Given the description of an element on the screen output the (x, y) to click on. 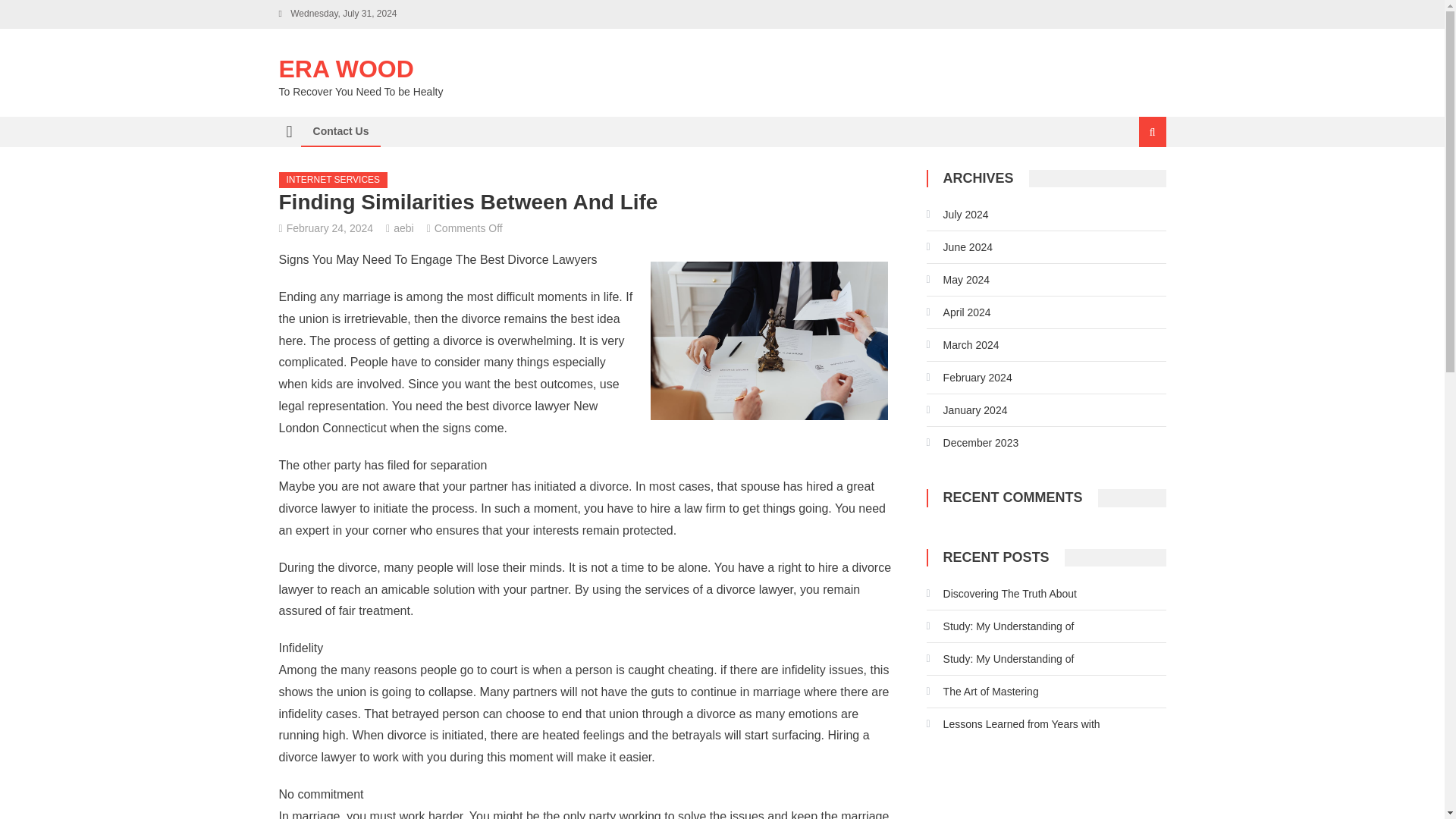
February 24, 2024 (329, 227)
December 2023 (972, 442)
aebi (403, 227)
Search (1133, 182)
Contact Us (340, 131)
April 2024 (958, 312)
May 2024 (958, 279)
June 2024 (959, 247)
January 2024 (966, 410)
February 2024 (968, 377)
March 2024 (962, 344)
ERA WOOD (346, 68)
July 2024 (957, 214)
INTERNET SERVICES (333, 180)
